Given the description of an element on the screen output the (x, y) to click on. 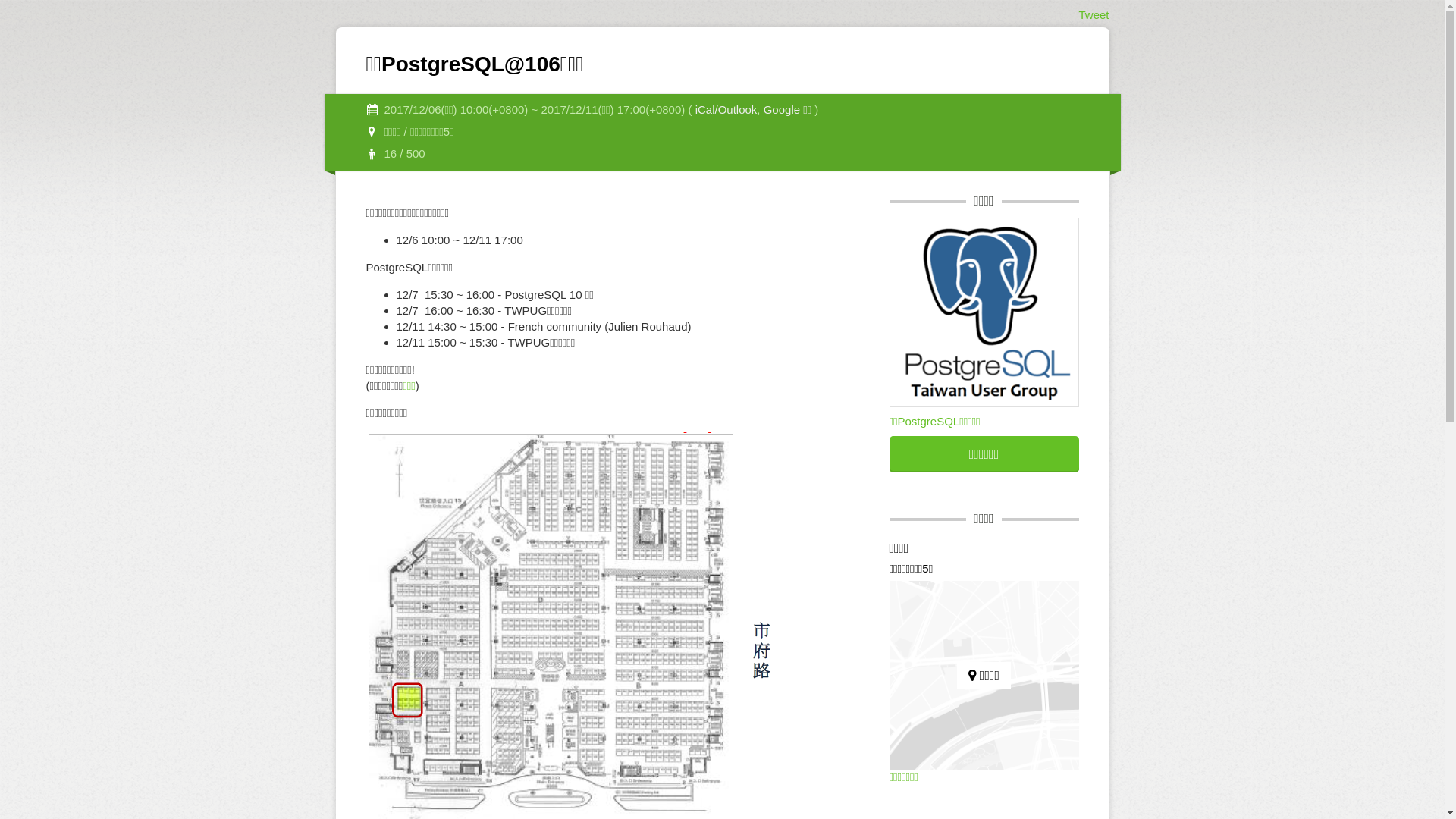
Tweet Element type: text (1093, 14)
iCal/Outlook Element type: text (726, 109)
